Given the description of an element on the screen output the (x, y) to click on. 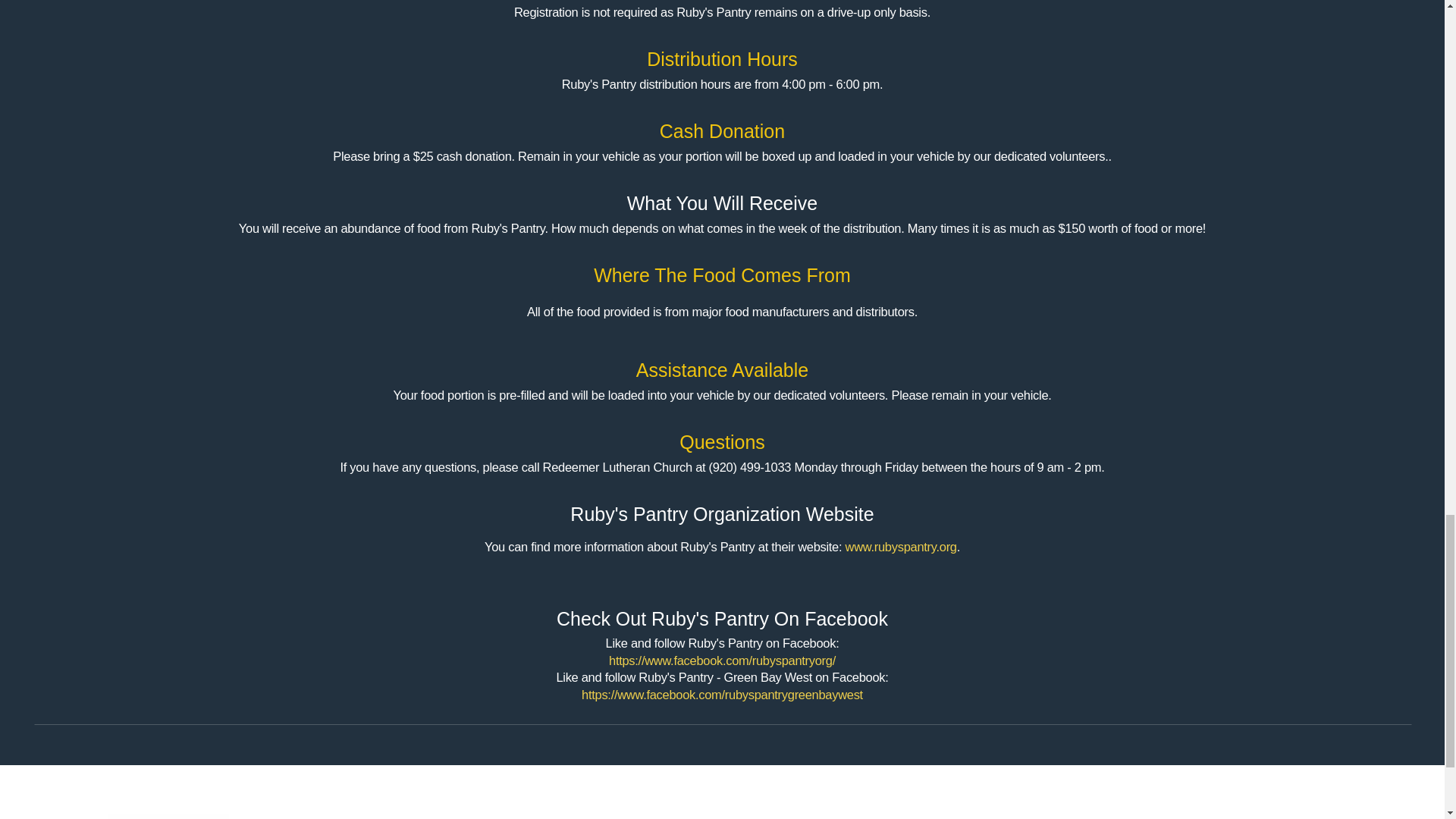
www.rubyspantry.org (900, 546)
Webmaster (843, 817)
